Given the description of an element on the screen output the (x, y) to click on. 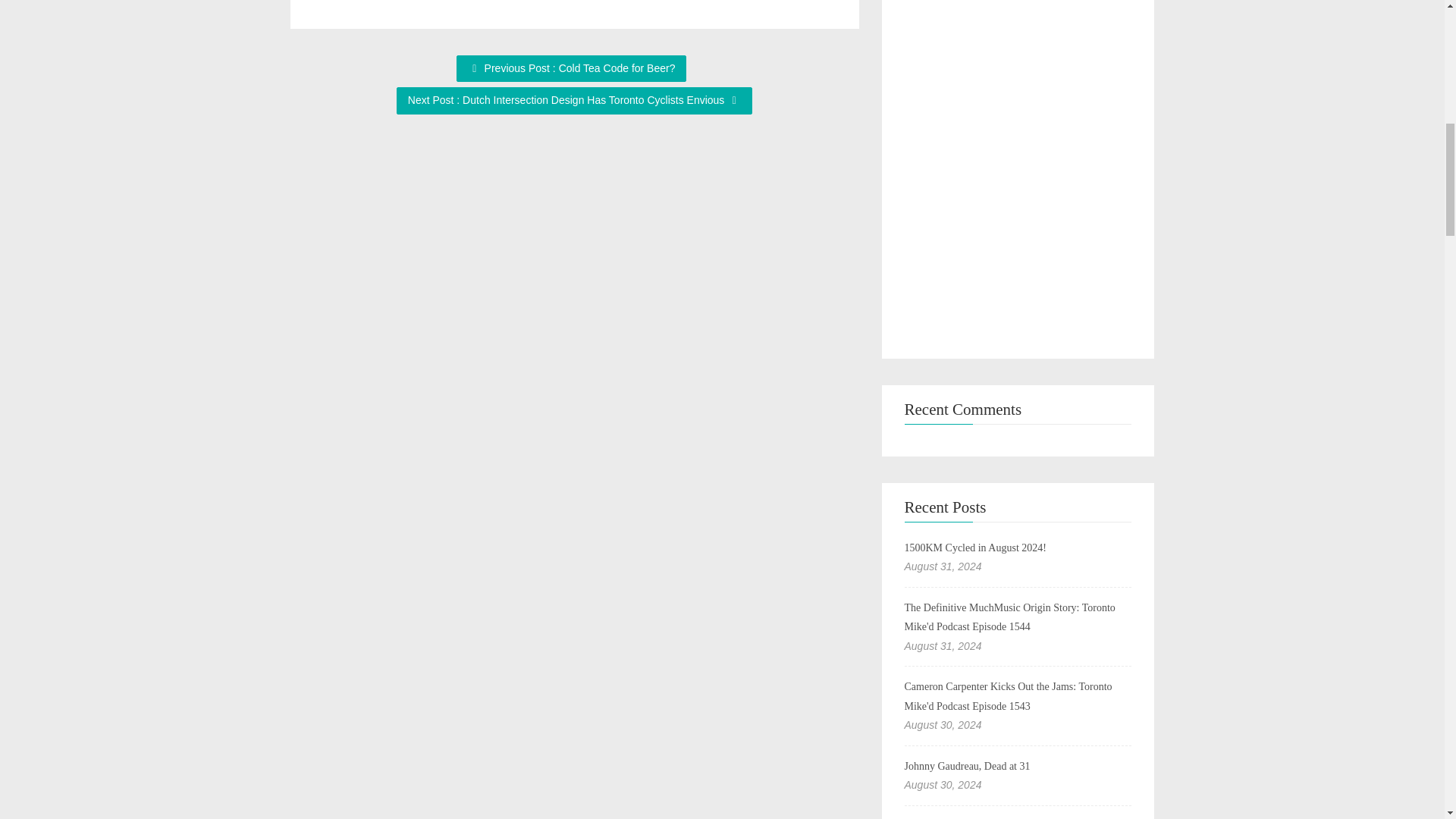
1500KM Cycled in August 2024! (974, 547)
Previous Post : Cold Tea Code for Beer? (572, 67)
Johnny Gaudreau, Dead at 31 (966, 766)
